Given the description of an element on the screen output the (x, y) to click on. 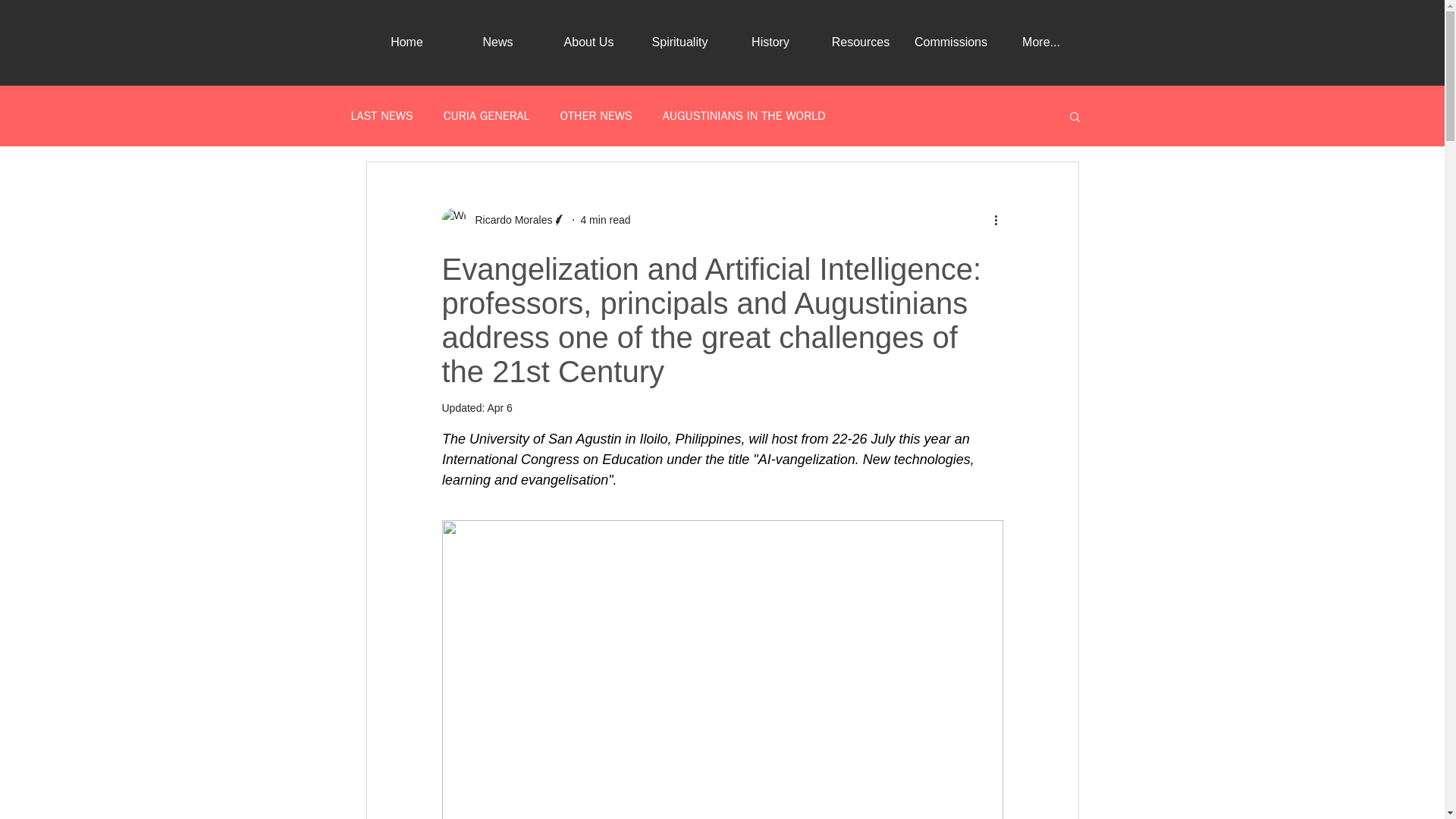
CURIA GENERAL (486, 115)
OTHER NEWS (595, 115)
4 min read (604, 219)
LAST NEWS (381, 115)
News (497, 42)
Home (406, 42)
Ricardo Morales (508, 220)
Apr 6 (499, 408)
